Given the description of an element on the screen output the (x, y) to click on. 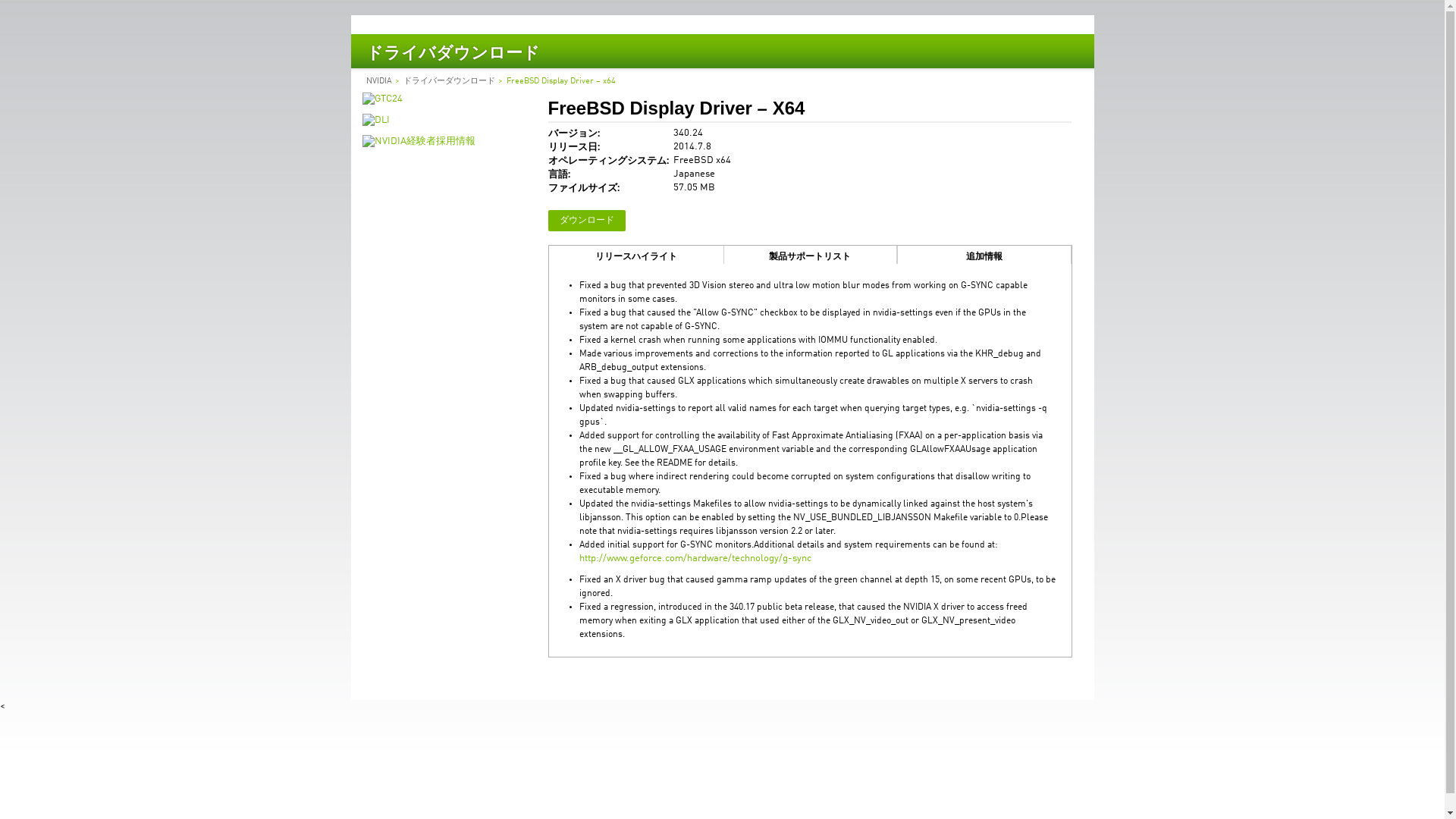
NVIDIA (378, 80)
